Given the description of an element on the screen output the (x, y) to click on. 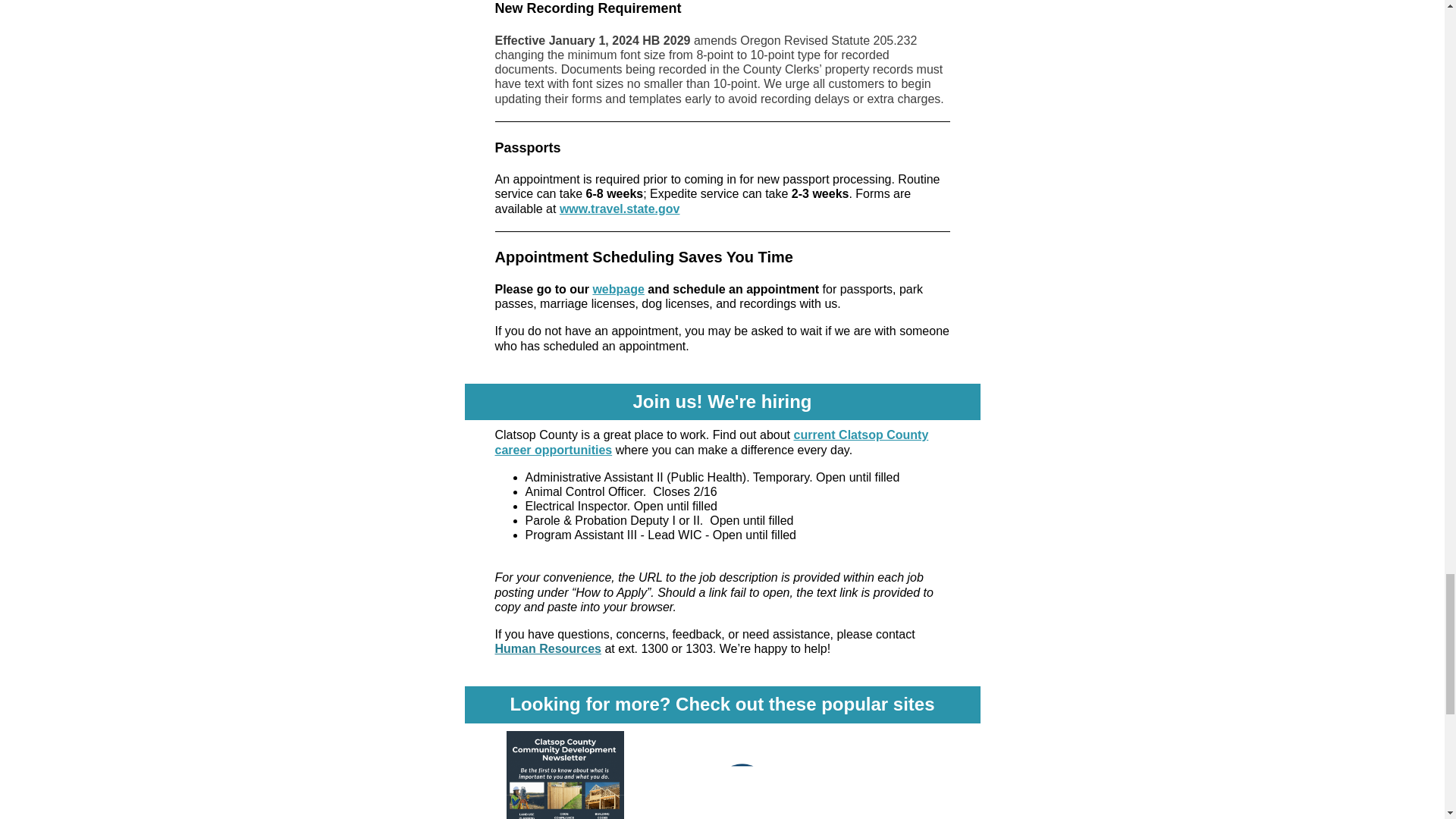
current Clatsop County career opportunities (711, 441)
www.travel.state.gov (619, 208)
Human Resources (548, 648)
webpage (617, 288)
